Given the description of an element on the screen output the (x, y) to click on. 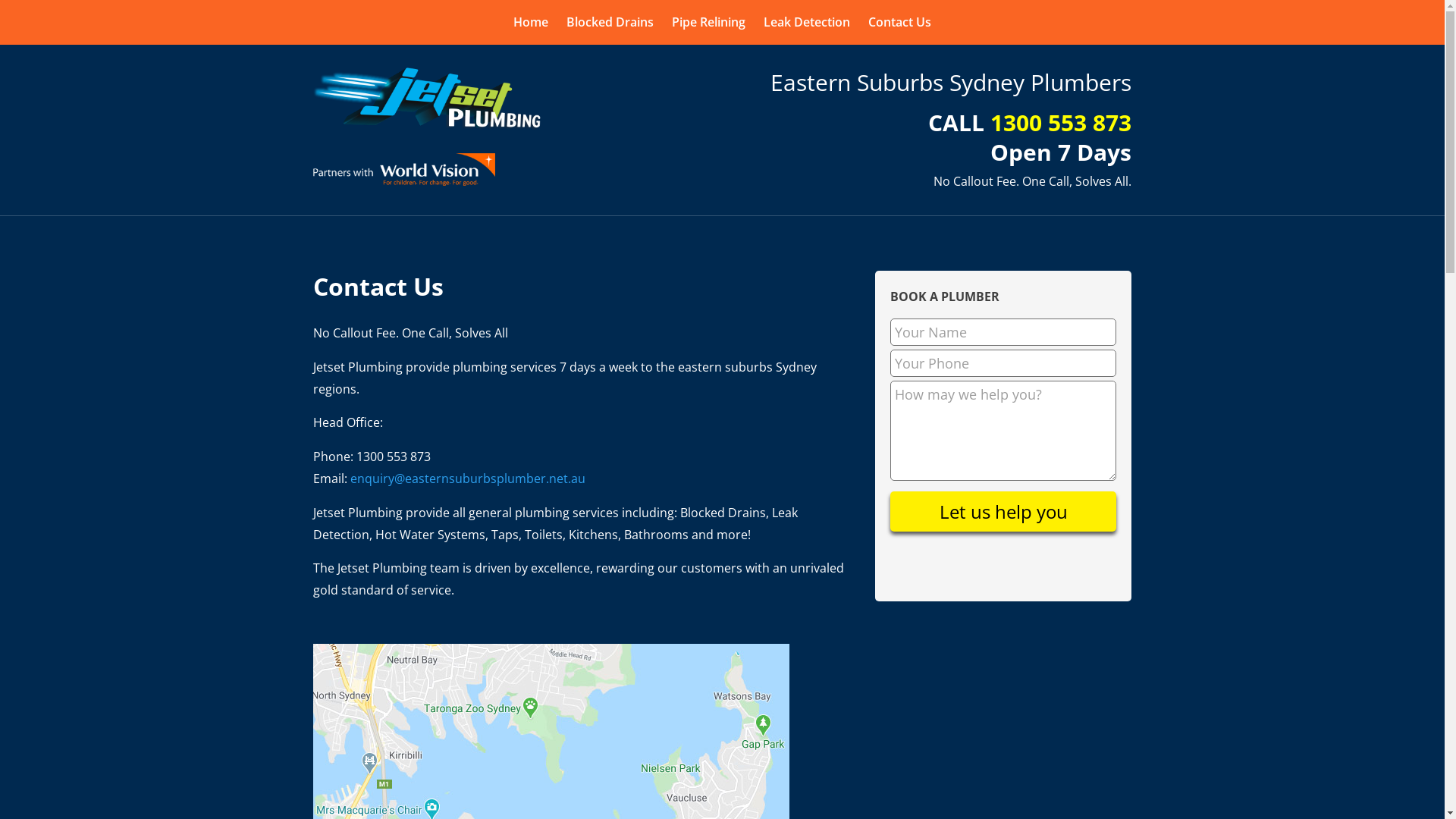
Blocked Drains Element type: text (609, 21)
enquiry@easternsuburbsplumber.net.au Element type: text (467, 478)
Pipe Relining Element type: text (708, 21)
Contact Us Element type: text (899, 21)
Emergency Drains Element type: hover (425, 98)
Let us help you Element type: text (1003, 511)
Leak Detection Element type: text (806, 21)
Home Element type: text (530, 21)
CALL 1300 553 873 Element type: text (1029, 122)
